Given the description of an element on the screen output the (x, y) to click on. 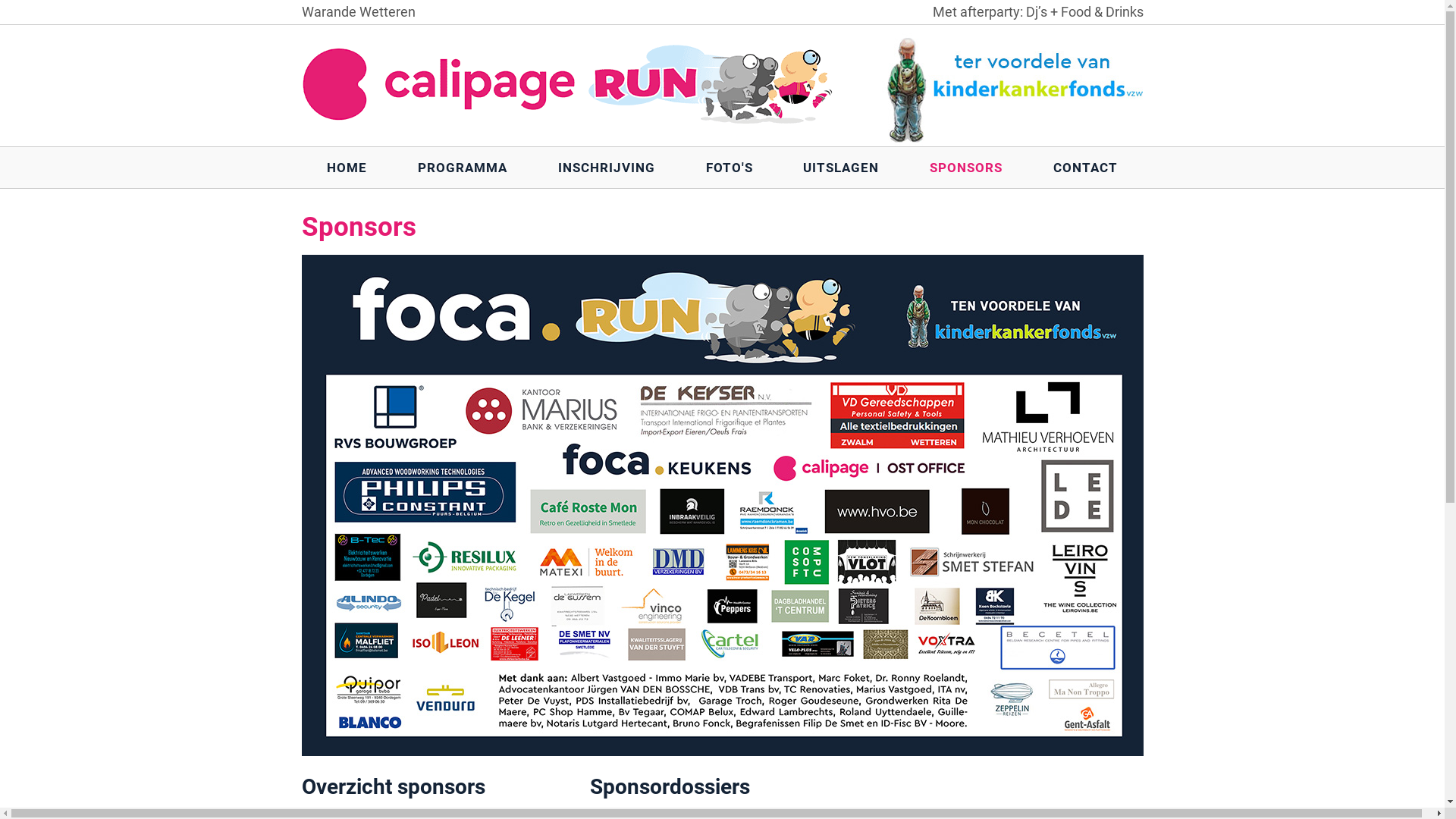
UITSLAGEN Element type: text (841, 167)
HOME Element type: text (346, 167)
PROGRAMMA Element type: text (462, 167)
FOTO'S Element type: text (729, 167)
SPONSORS Element type: text (966, 167)
INSCHRIJVING Element type: text (606, 167)
CONTACT Element type: text (1085, 167)
